Given the description of an element on the screen output the (x, y) to click on. 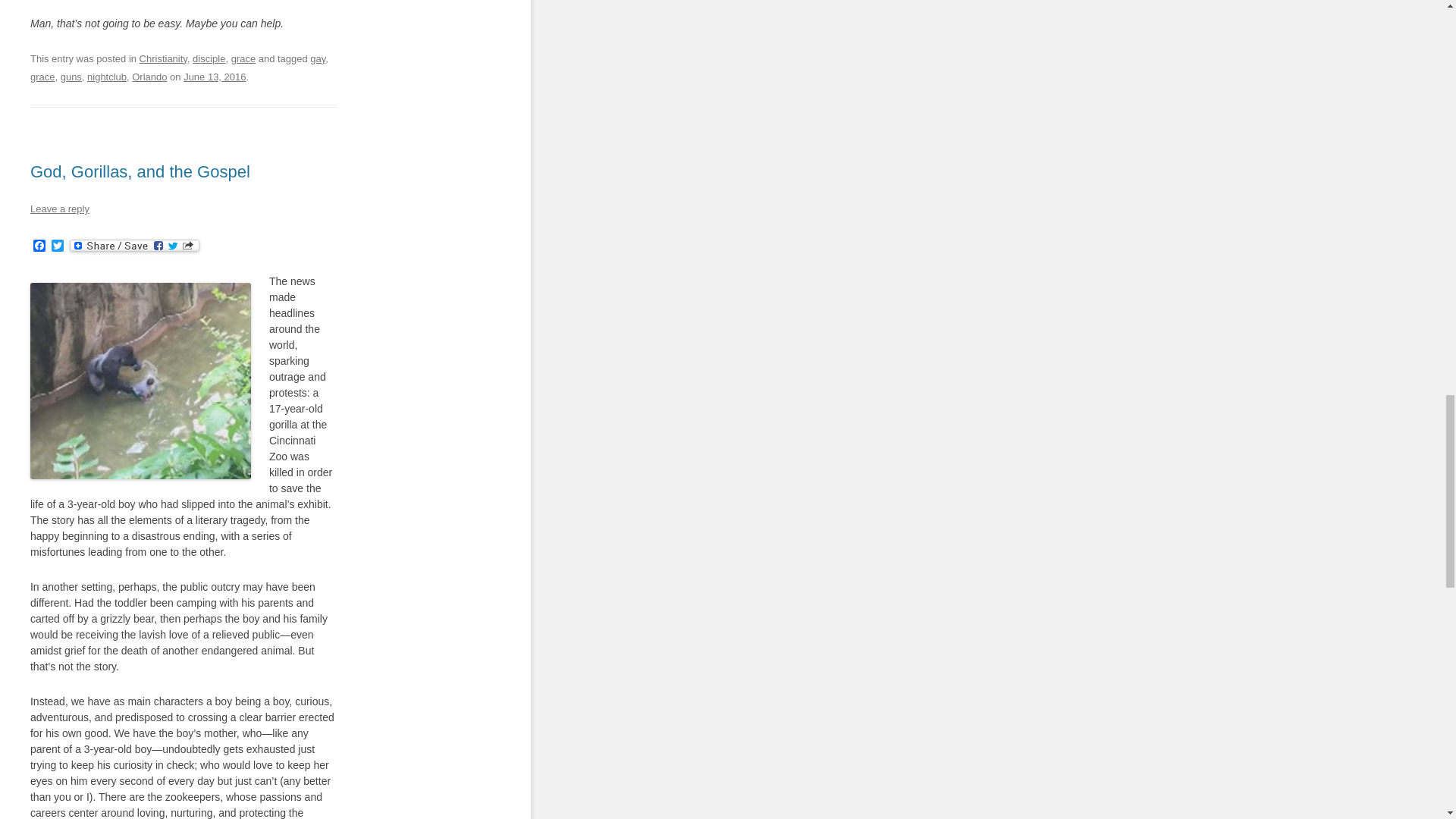
Christianity (163, 58)
guns (71, 76)
grace (42, 76)
gay (317, 58)
11:21 am (214, 76)
Orlando (149, 76)
June 13, 2016 (214, 76)
Facebook (39, 246)
Leave a reply (59, 208)
God, Gorillas, and the Gospel (140, 171)
disciple (208, 58)
grace (243, 58)
nightclub (106, 76)
Twitter (57, 246)
Facebook (39, 246)
